Given the description of an element on the screen output the (x, y) to click on. 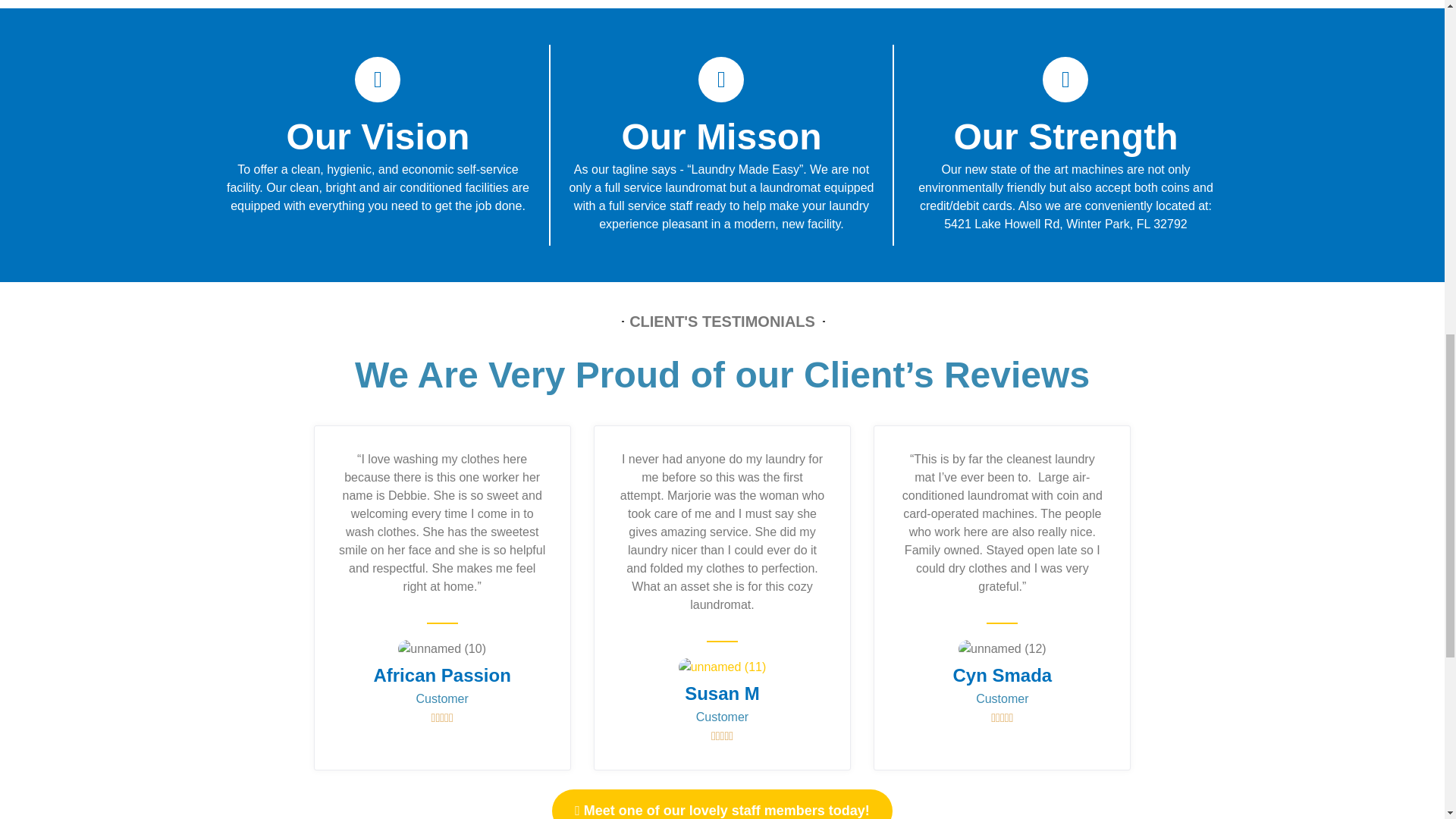
Meet one of our lovely staff members today! (721, 804)
